Given the description of an element on the screen output the (x, y) to click on. 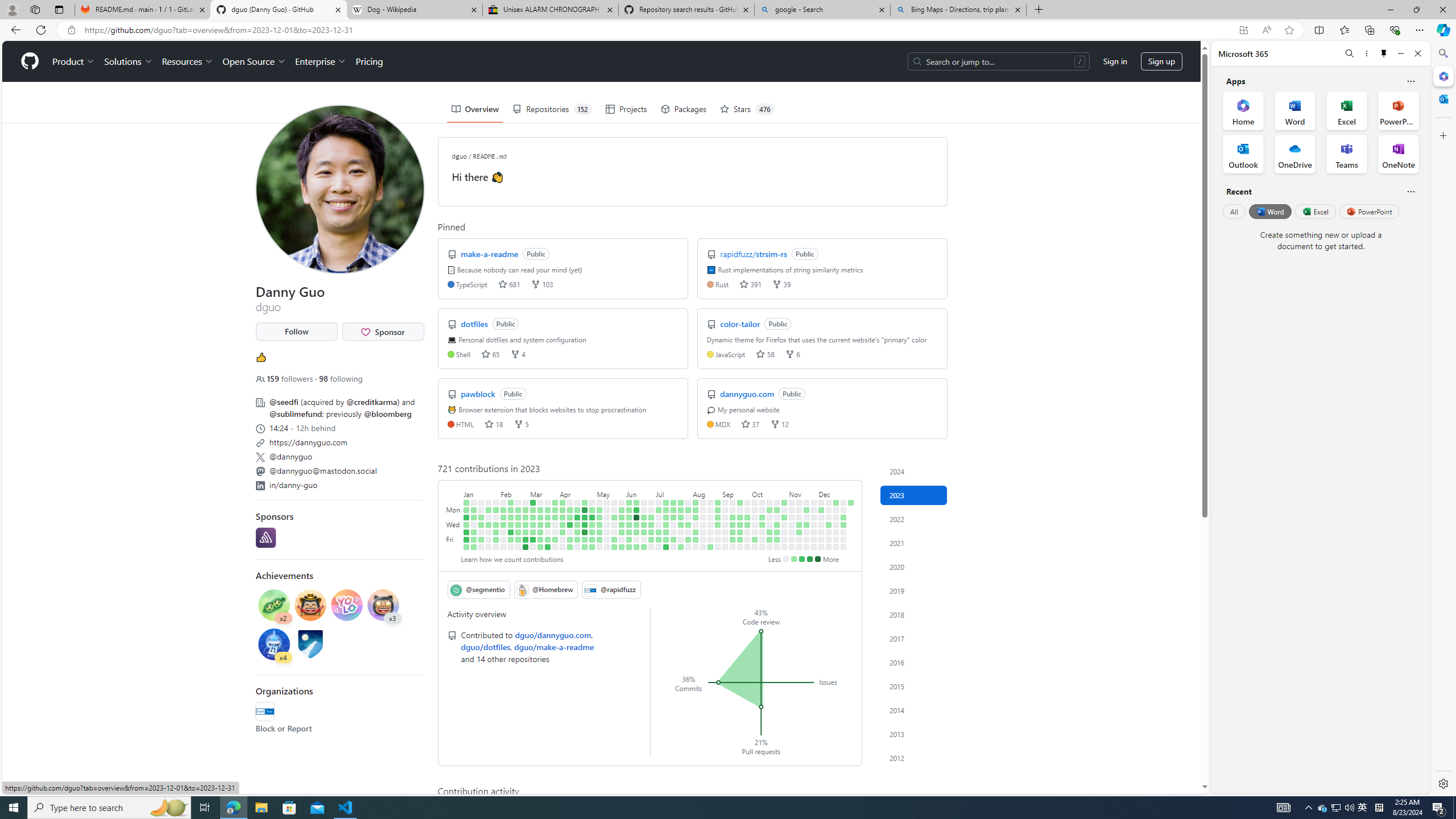
No contributions on November 21st. (806, 517)
No contributions on October 4th. (754, 524)
No contributions on November 8th. (791, 524)
6 contributions on April 14th. (569, 539)
No contributions on February 19th. (518, 502)
2 contributions on February 23rd. (518, 531)
6 contributions on April 28th. (585, 539)
forks 12 (779, 423)
2 contributions on June 10th. (628, 546)
No contributions on February 5th. (503, 502)
1 contribution on April 10th. (569, 509)
@rapidfuzz (263, 711)
Wednesday (454, 524)
dannyguo.com (748, 393)
